Given the description of an element on the screen output the (x, y) to click on. 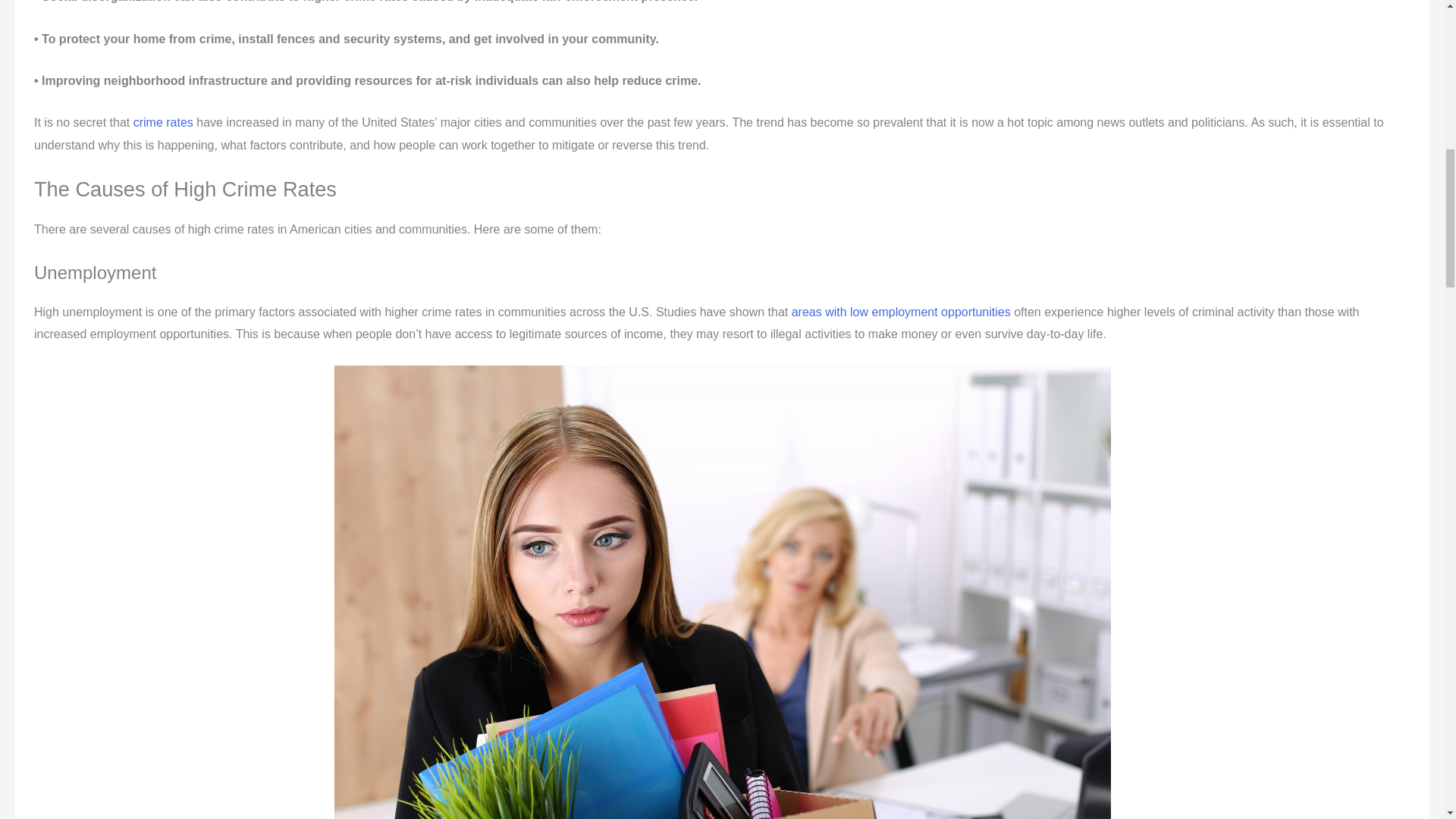
areas with low employment opportunities (902, 311)
crime rates (163, 122)
